Given the description of an element on the screen output the (x, y) to click on. 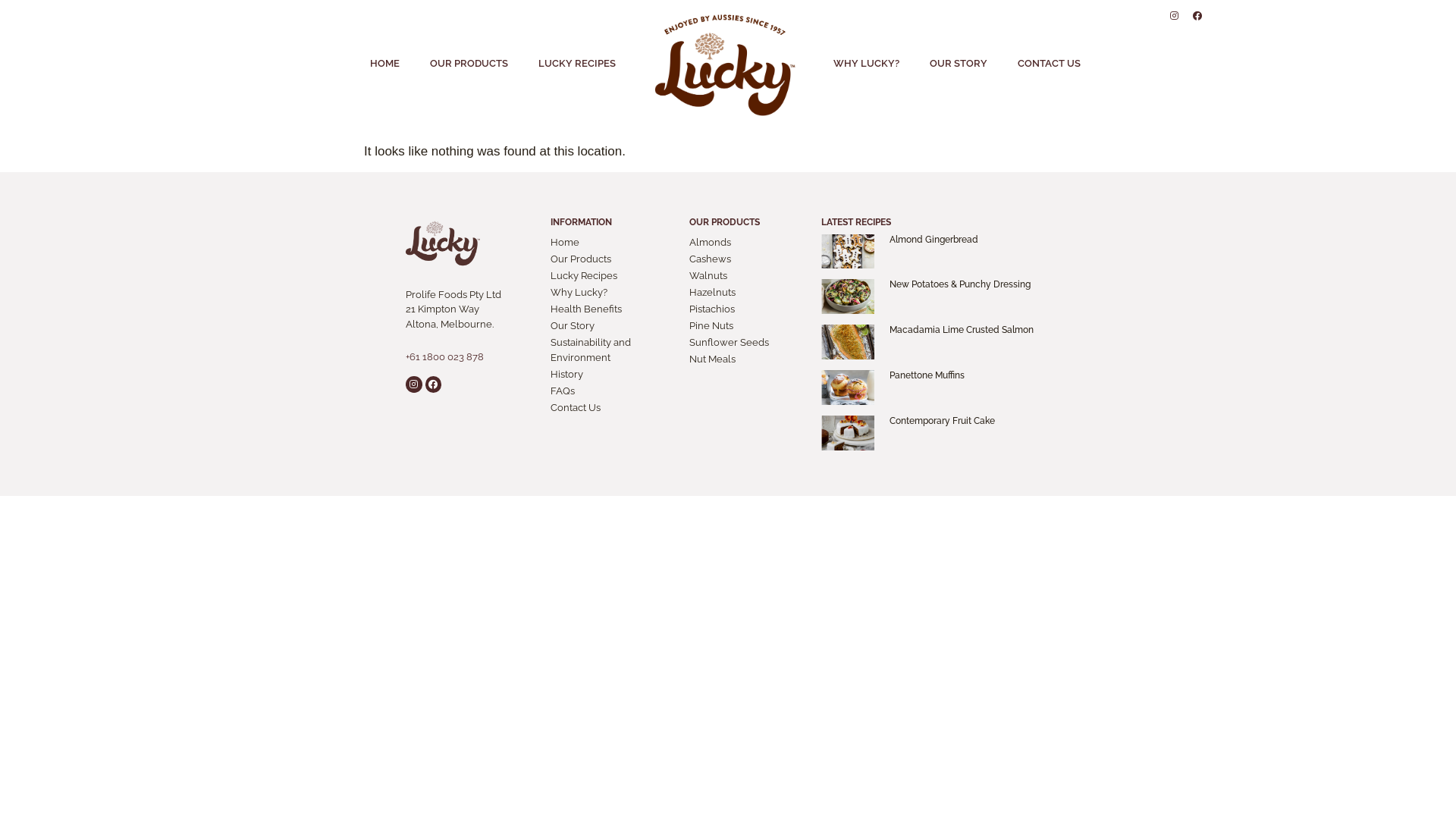
Why Lucky? Element type: text (612, 292)
Contact Us Element type: text (612, 407)
Walnuts Element type: text (747, 275)
Our Products Element type: text (612, 259)
Lucky Recipes Element type: text (612, 275)
Panettone Muffins Element type: text (925, 375)
Health Benefits Element type: text (612, 309)
CONTACT US Element type: text (1048, 63)
Hazelnuts Element type: text (747, 292)
FAQs Element type: text (612, 390)
Home Element type: text (612, 242)
Contemporary Fruit Cake Element type: text (941, 420)
Sunflower Seeds Element type: text (747, 342)
Almond Gingerbread Element type: text (932, 239)
HOME Element type: text (384, 63)
Nut Meals Element type: text (747, 359)
Sustainability and Environment Element type: text (612, 350)
LUCKY RECIPES Element type: text (576, 63)
Almonds Element type: text (747, 242)
Pine Nuts Element type: text (747, 325)
Our Story Element type: text (612, 325)
OUR STORY Element type: text (958, 63)
Macadamia Lime Crusted Salmon Element type: text (960, 329)
New Potatoes & Punchy Dressing Element type: text (958, 284)
Pistachios Element type: text (747, 309)
Cashews Element type: text (747, 259)
History Element type: text (612, 374)
+61 1800 023 878 Element type: text (444, 356)
OUR PRODUCTS Element type: text (468, 63)
WHY LUCKY? Element type: text (866, 63)
